Given the description of an element on the screen output the (x, y) to click on. 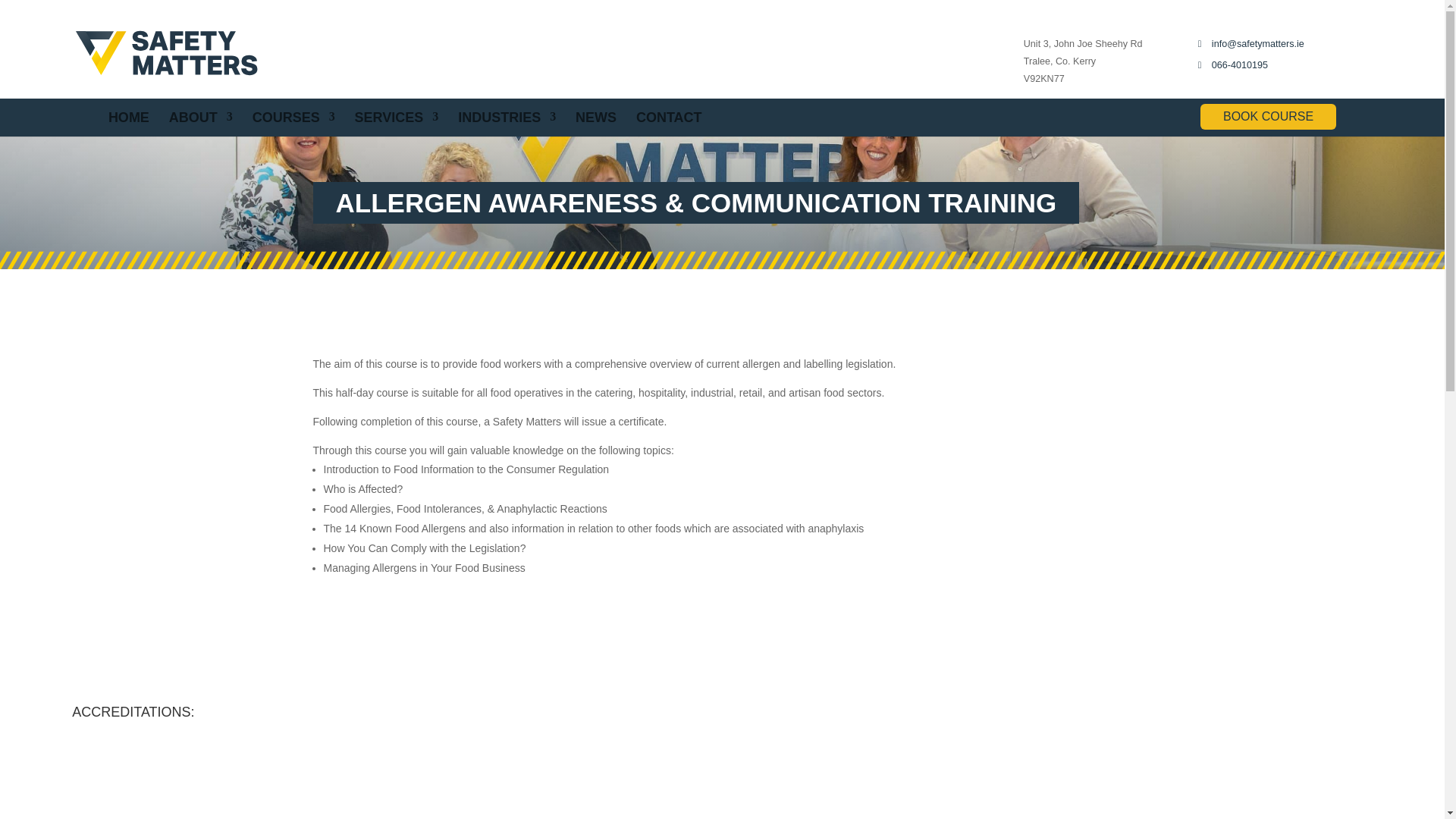
NHP-Logo (720, 772)
BOOK COURSE (1267, 116)
APEA-Logo (536, 772)
FSPA Logo (1278, 772)
ABOUT (200, 117)
SERVICES (397, 117)
Irish-Heart-Foundation (164, 772)
HOME (128, 117)
IIRSM-Logo (1093, 772)
CONTACT (668, 117)
